Given the description of an element on the screen output the (x, y) to click on. 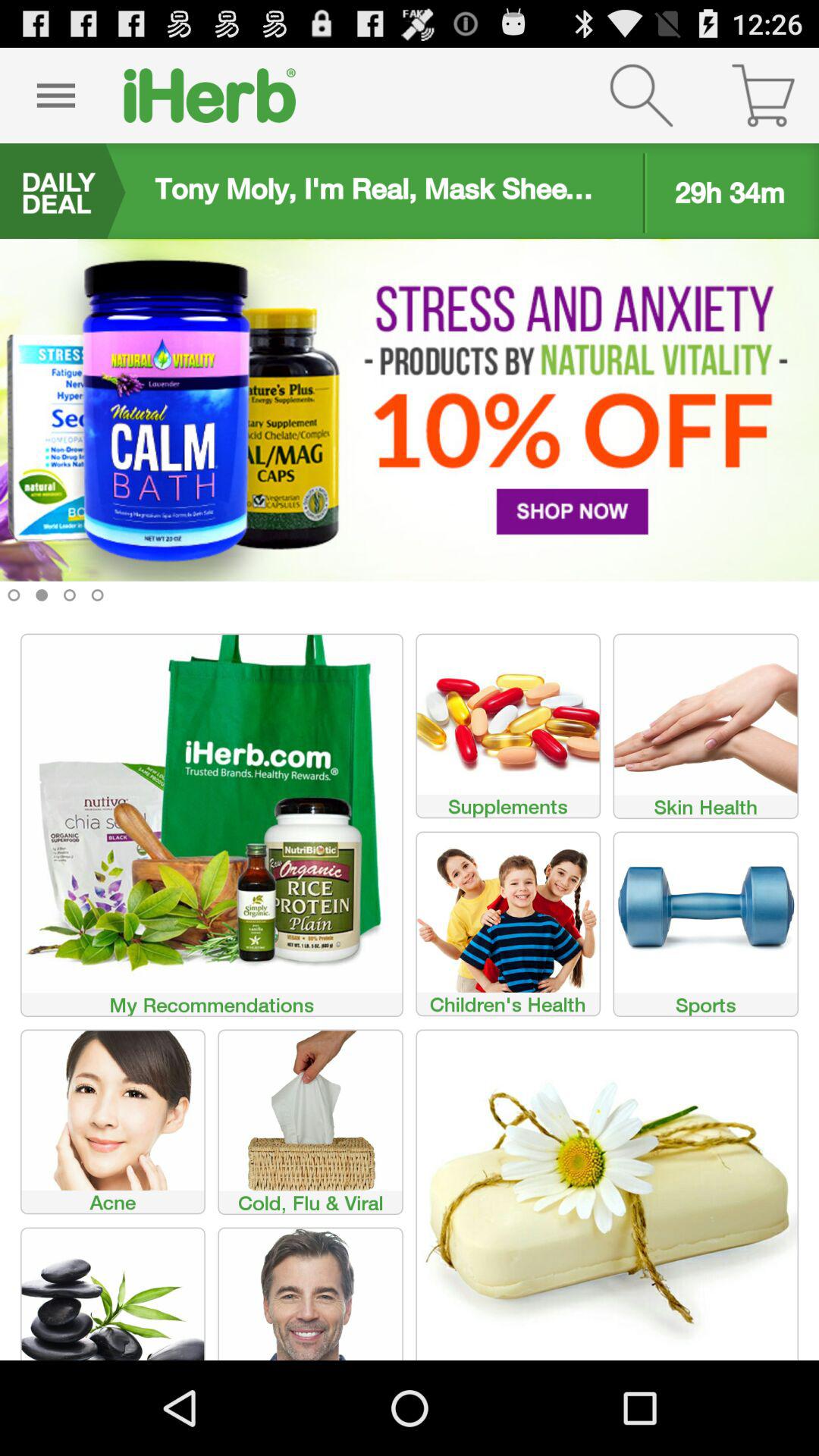
go to icon (55, 95)
